Given the description of an element on the screen output the (x, y) to click on. 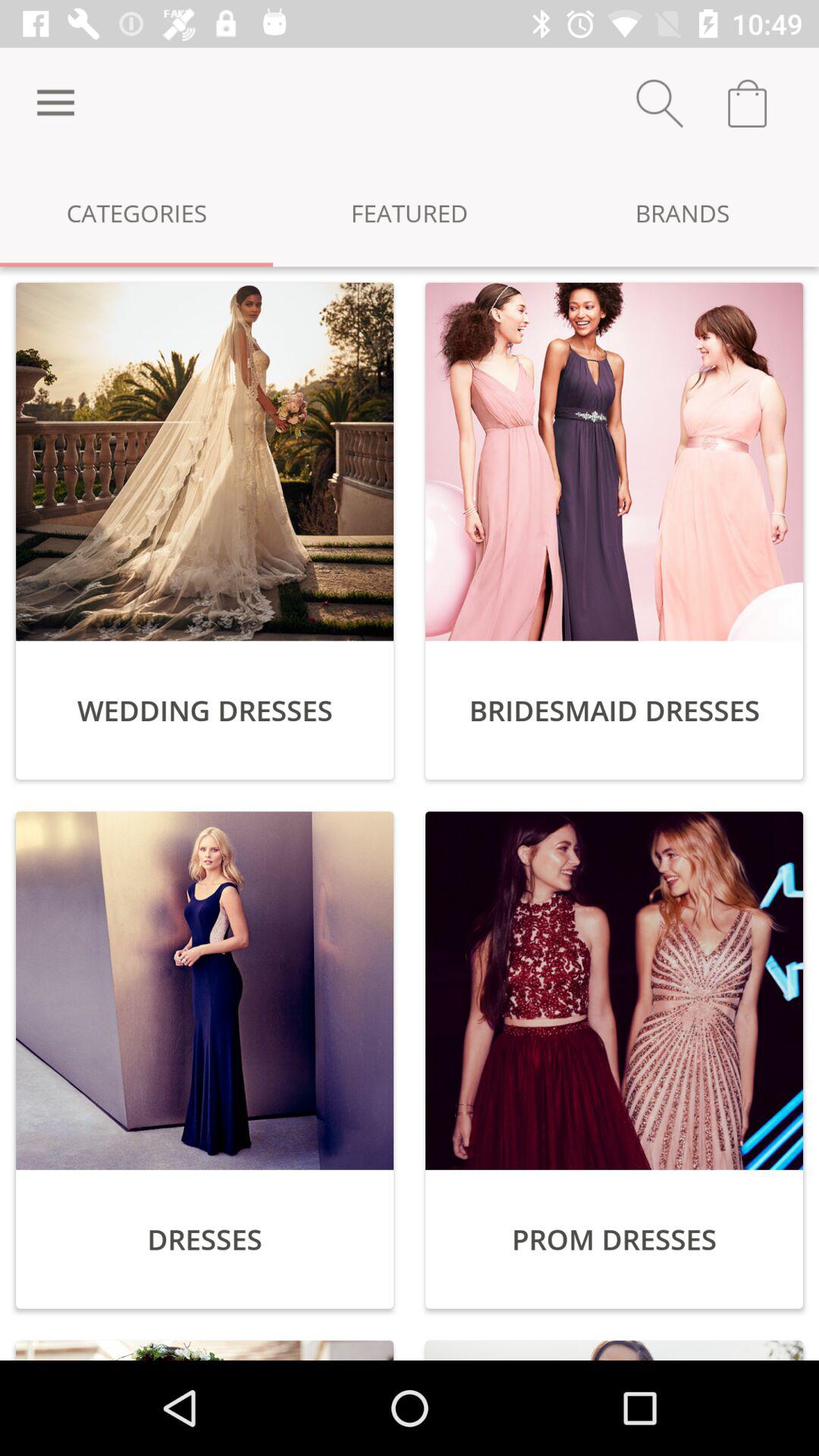
turn on icon to the left of the featured item (136, 212)
